Given the description of an element on the screen output the (x, y) to click on. 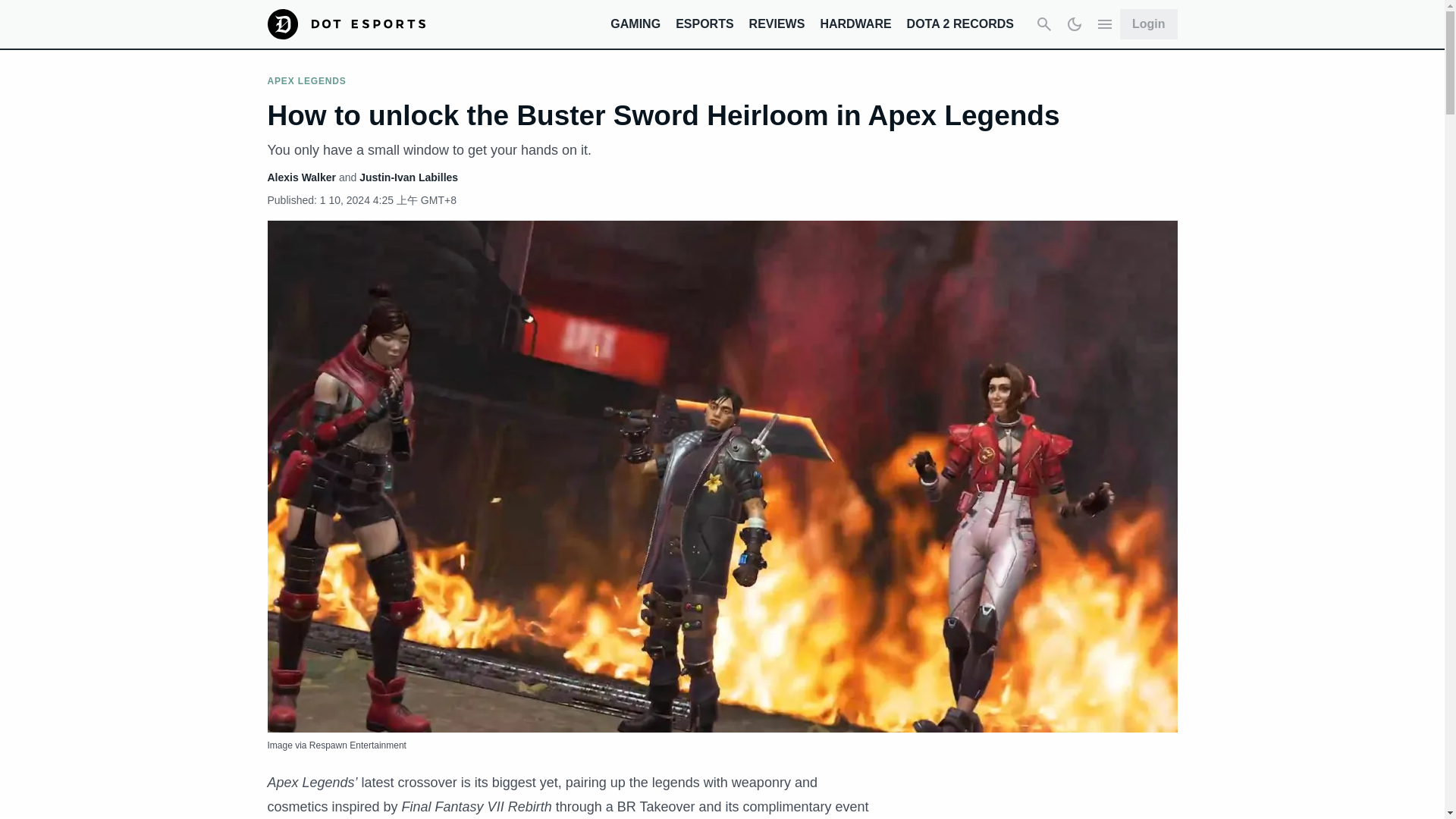
GAMING (635, 23)
ESPORTS (704, 23)
Expand Menu (1104, 24)
Search (1044, 24)
DOTA 2 RECORDS (960, 23)
HARDWARE (855, 23)
Dark Mode (1074, 24)
Login (1148, 24)
REVIEWS (777, 23)
